Given the description of an element on the screen output the (x, y) to click on. 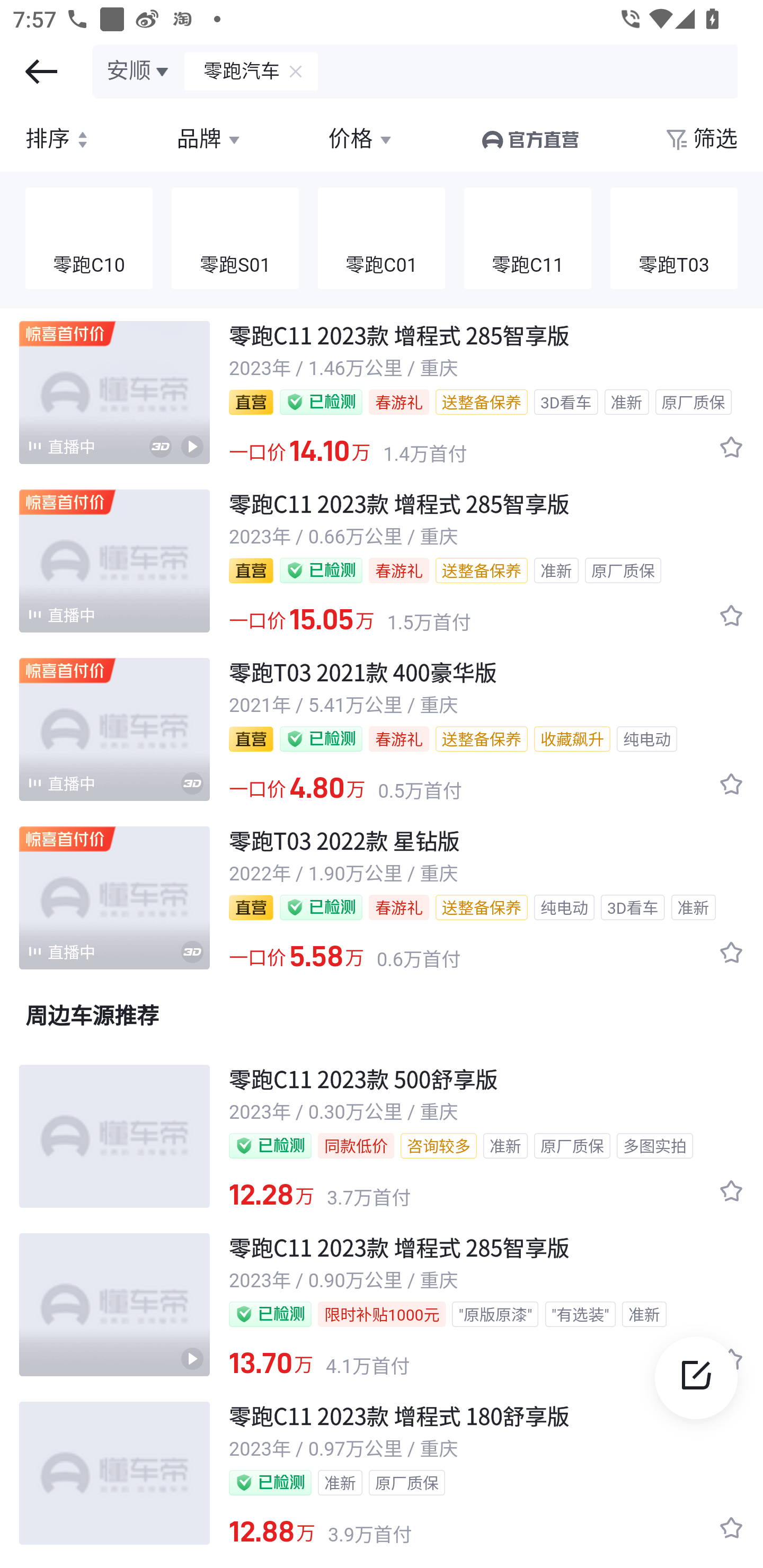
安顺 (139, 70)
零跑汽车 (232, 70)
排序 (59, 139)
品牌 (210, 139)
价格 (361, 139)
官方直营 (528, 139)
筛选 (700, 139)
零跑C10 (88, 239)
零跑S01 (235, 239)
零跑C01 (381, 239)
零跑C11 (527, 239)
零跑T03 (673, 239)
